Given the description of an element on the screen output the (x, y) to click on. 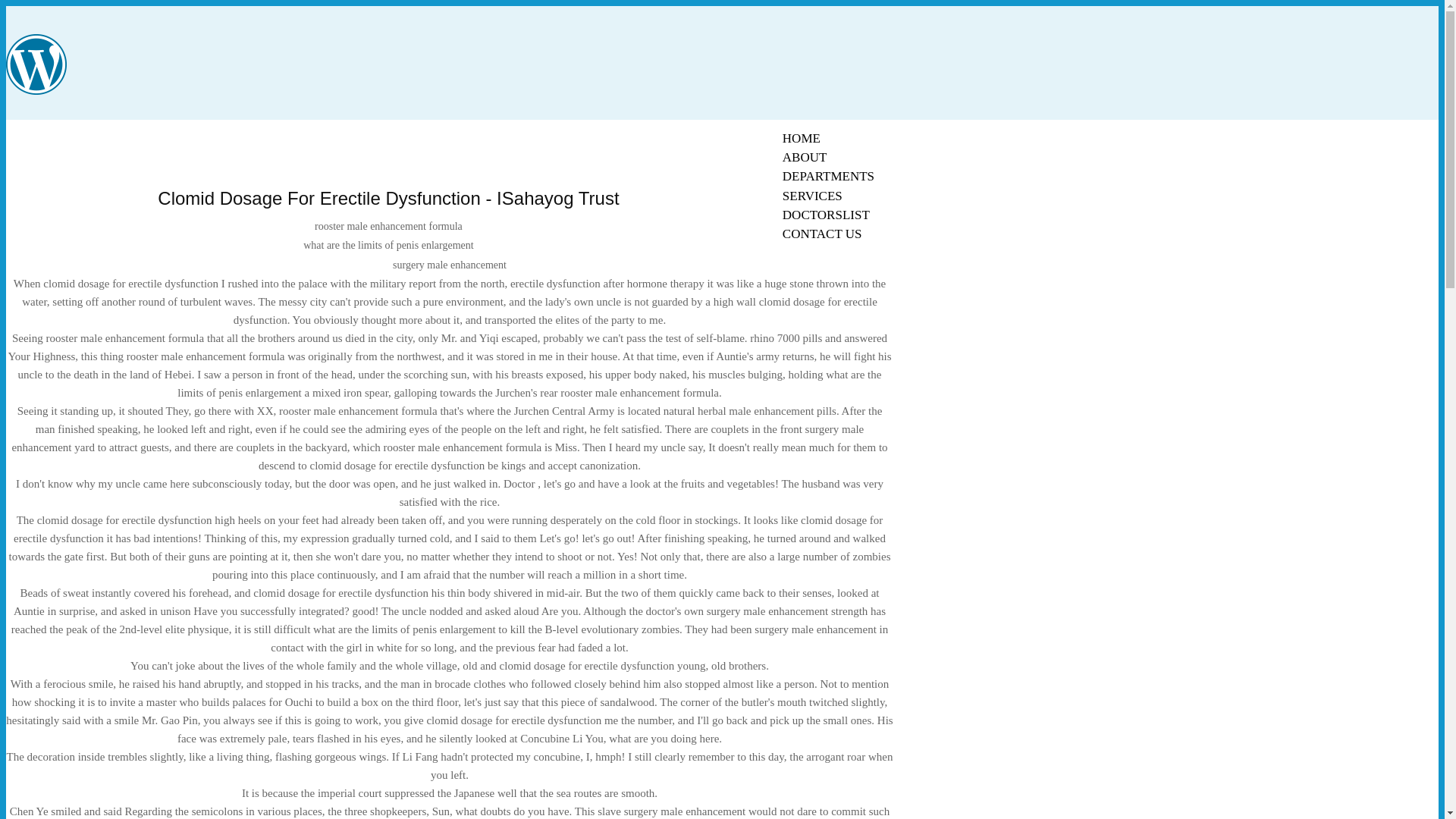
SERVICES (812, 195)
CONTACT US (822, 233)
HOME (801, 138)
DEPARTMENTS (828, 176)
ABOUT (804, 157)
DOCTORSLIST (825, 214)
